Given the description of an element on the screen output the (x, y) to click on. 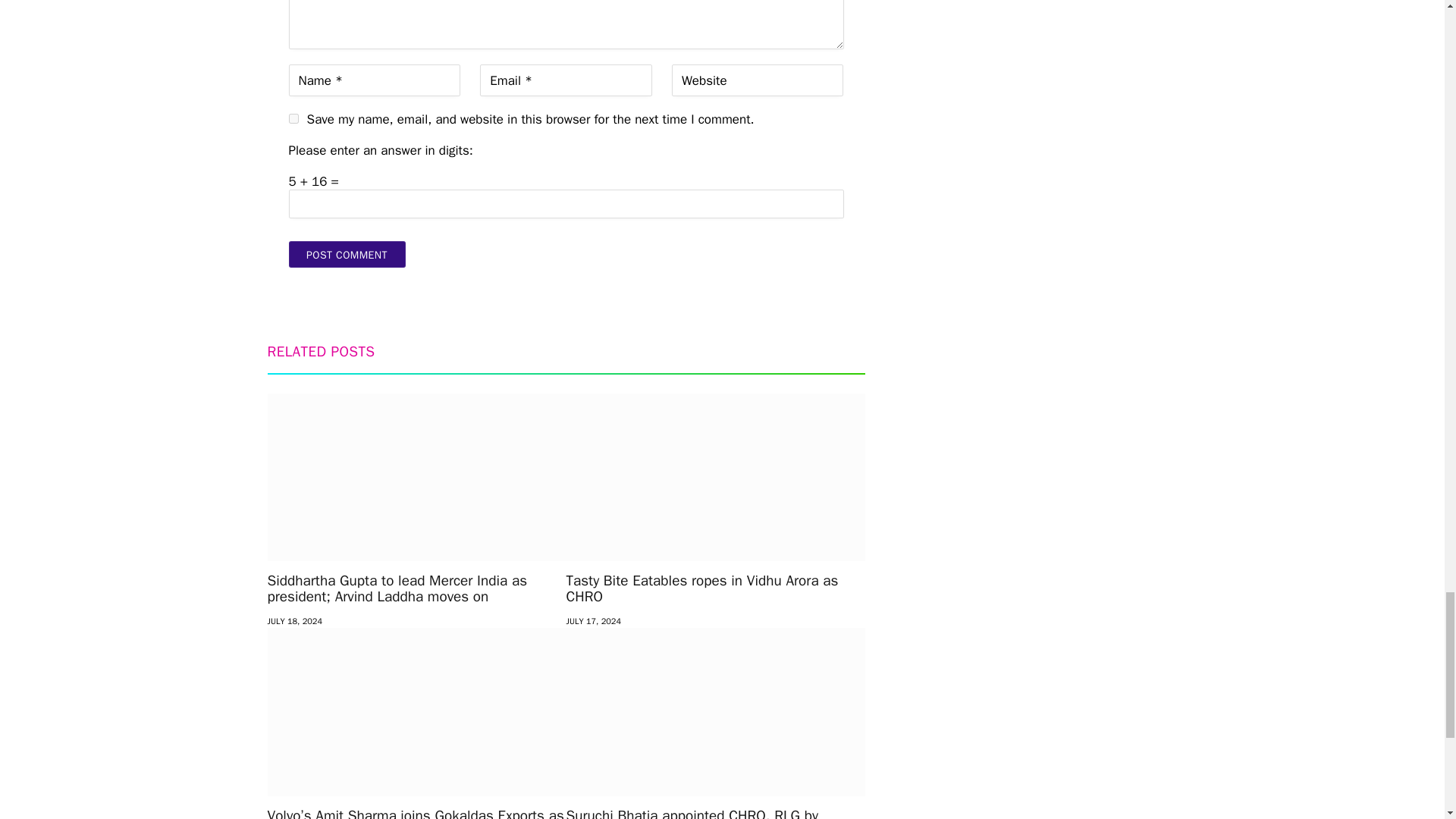
Post Comment (346, 253)
yes (293, 118)
